Given the description of an element on the screen output the (x, y) to click on. 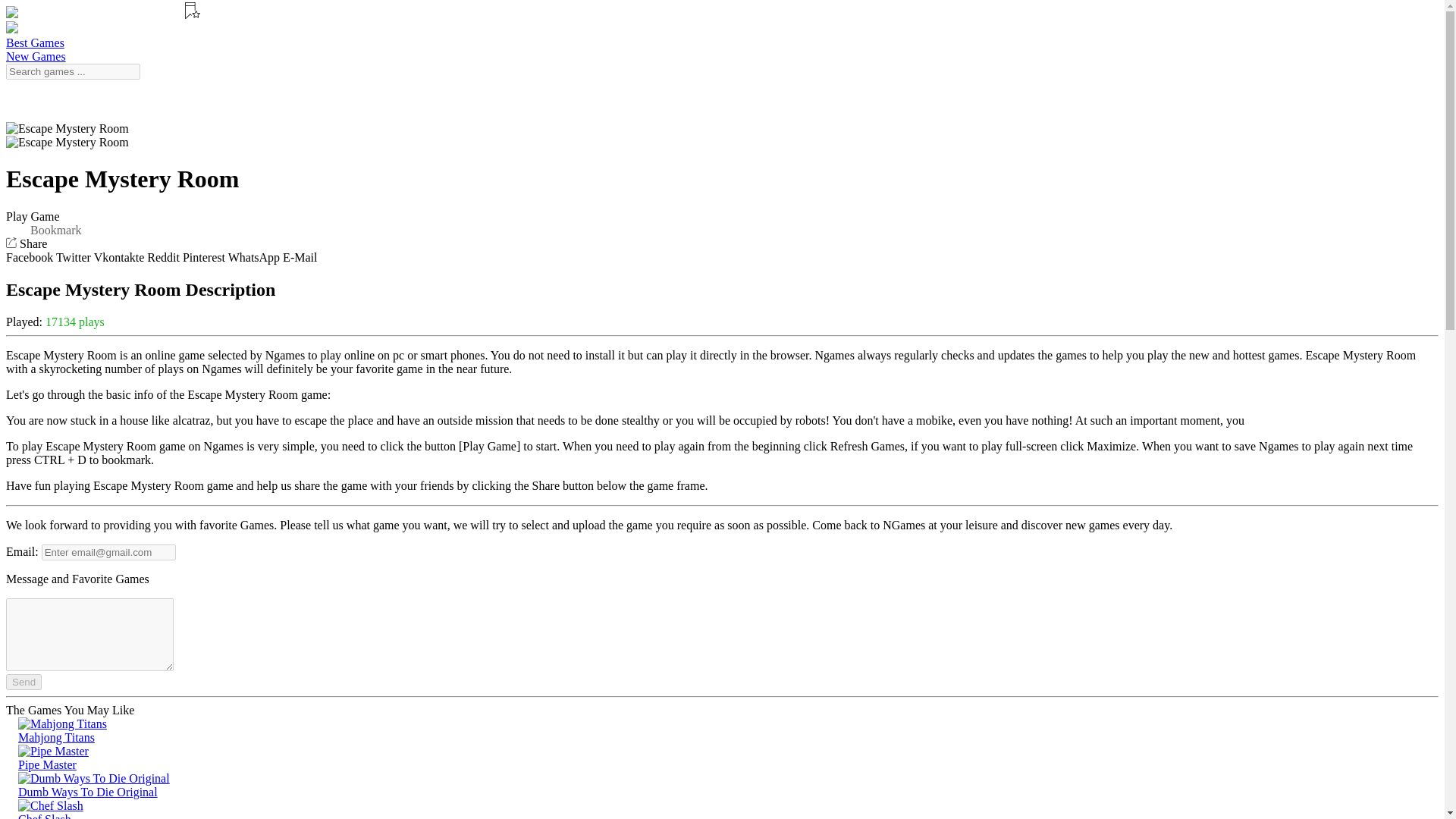
Send (23, 682)
Send (23, 682)
Twitter (73, 256)
Pipe Master (721, 758)
Bookmark (55, 230)
WhatsApp (253, 256)
Pinterest (204, 256)
Share (25, 243)
Facebook (28, 256)
New Games (35, 56)
